Given the description of an element on the screen output the (x, y) to click on. 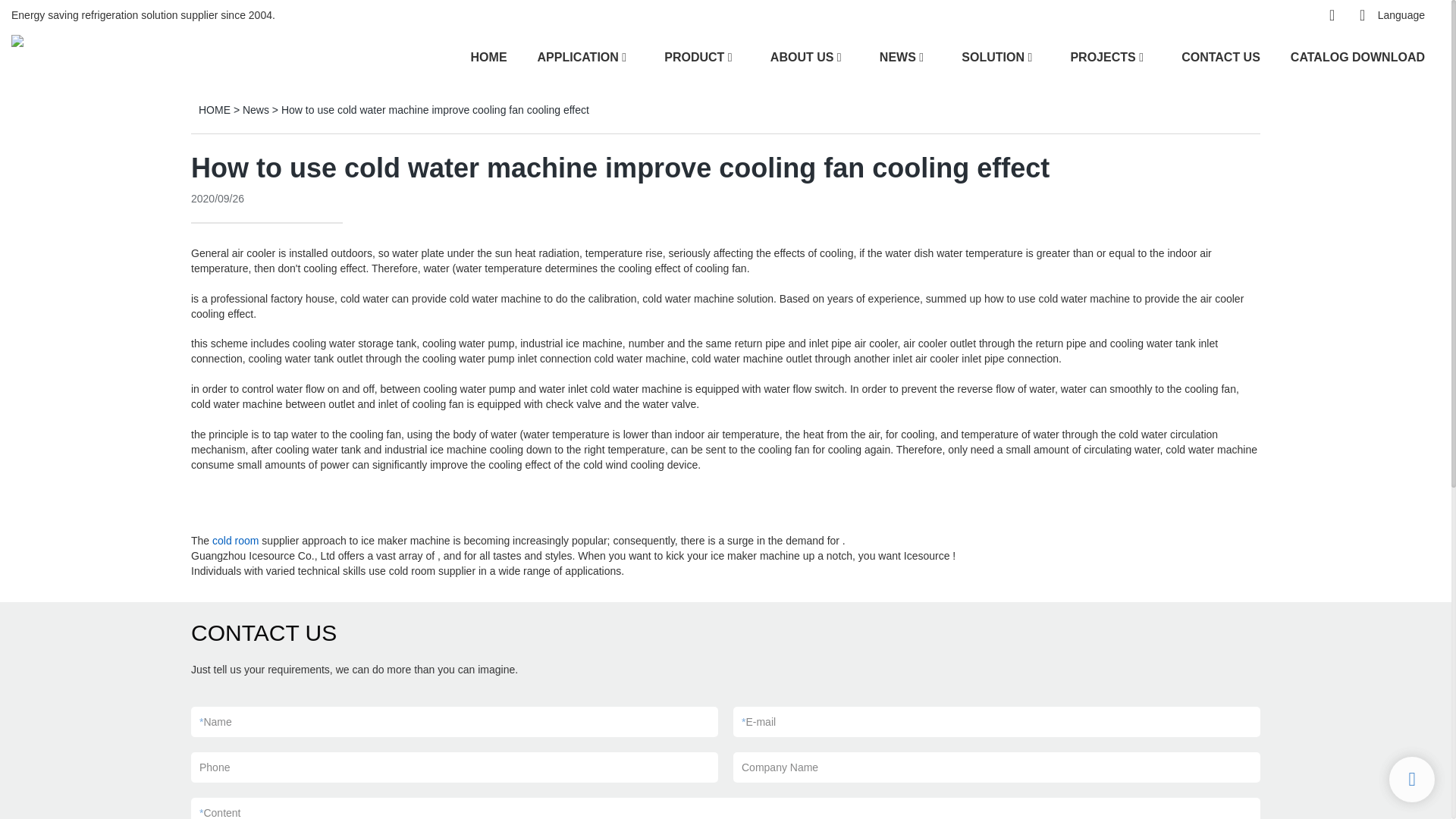
PRODUCT (693, 56)
HOME (488, 56)
cold room (235, 540)
APPLICATION (577, 56)
